Given the description of an element on the screen output the (x, y) to click on. 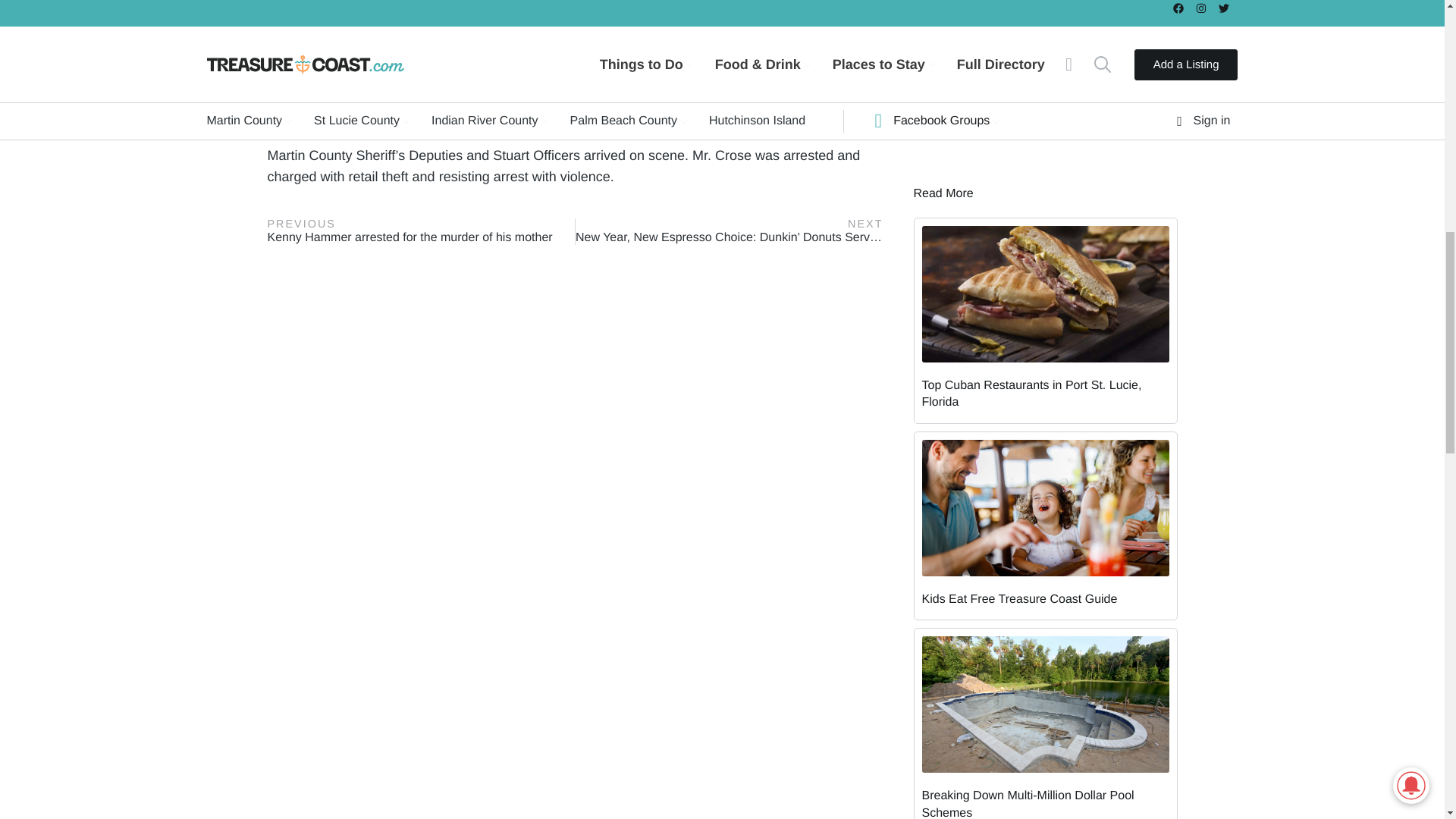
Advertisement (1044, 7)
